Given the description of an element on the screen output the (x, y) to click on. 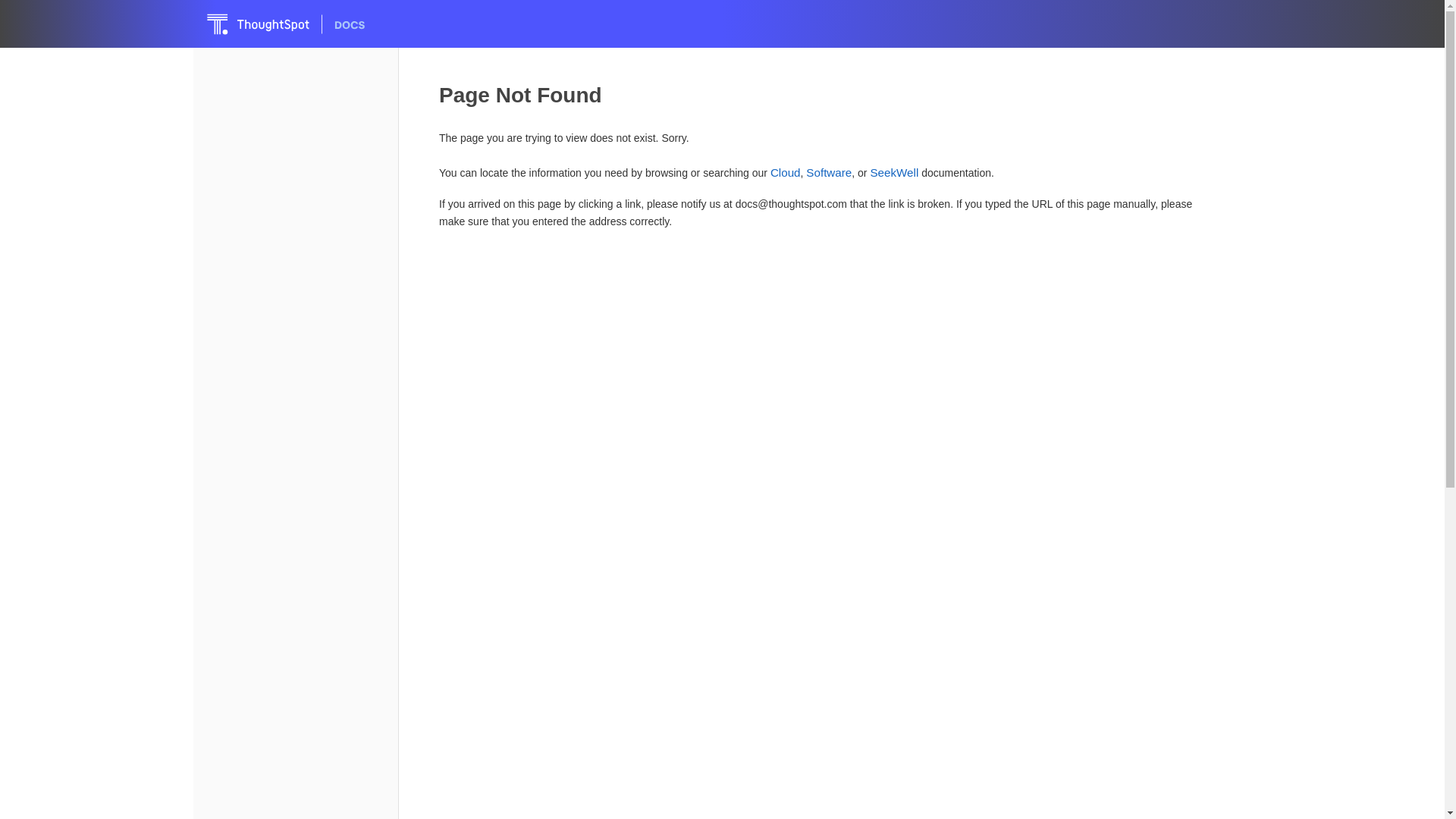
Software (828, 172)
Cloud (785, 172)
SeekWell (893, 172)
